Given the description of an element on the screen output the (x, y) to click on. 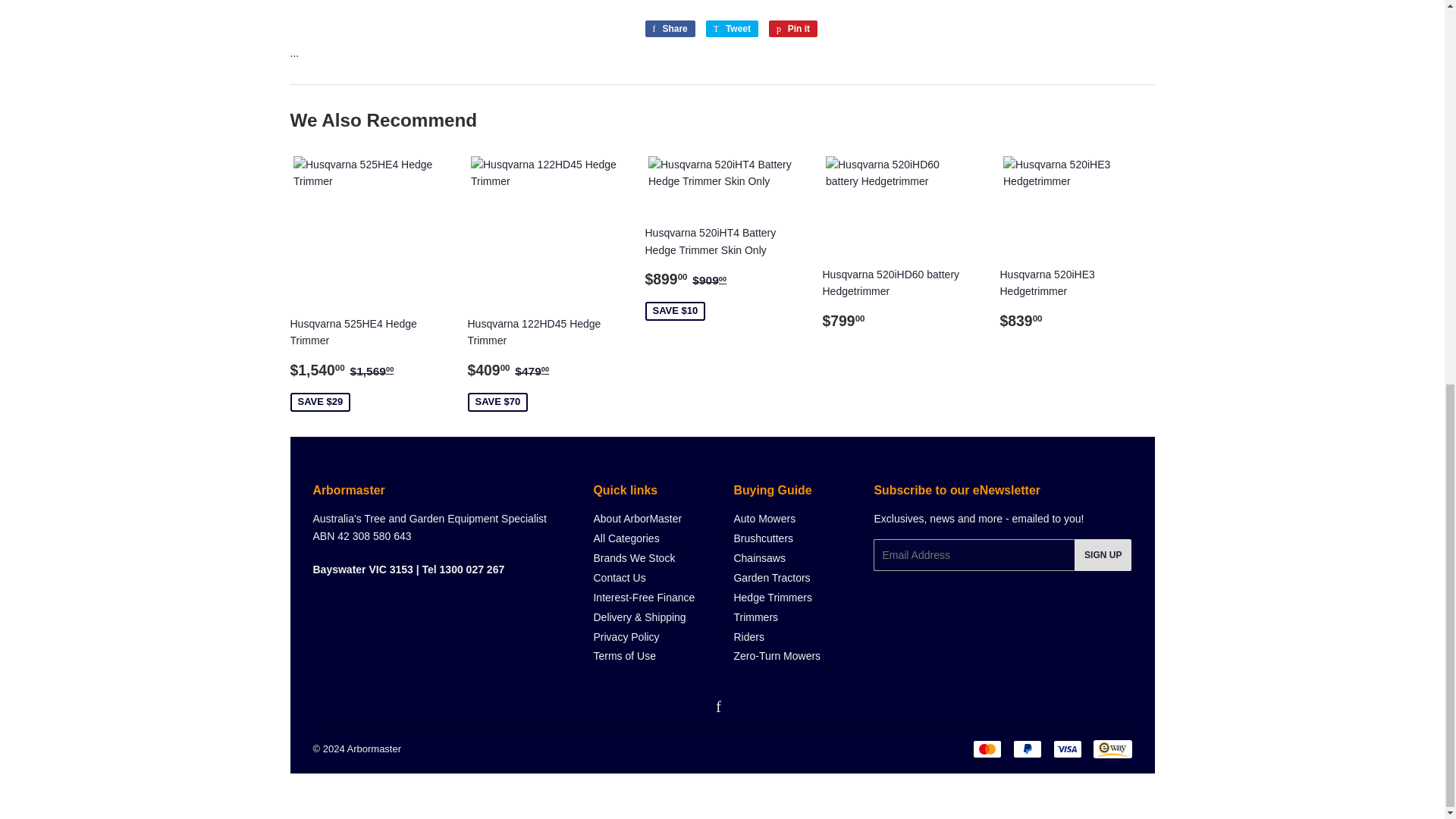
Share on Facebook (669, 28)
Visa (1066, 749)
PayPal (1027, 749)
Pin on Pinterest (792, 28)
Tweet on Twitter (732, 28)
Mastercard (986, 749)
